Given the description of an element on the screen output the (x, y) to click on. 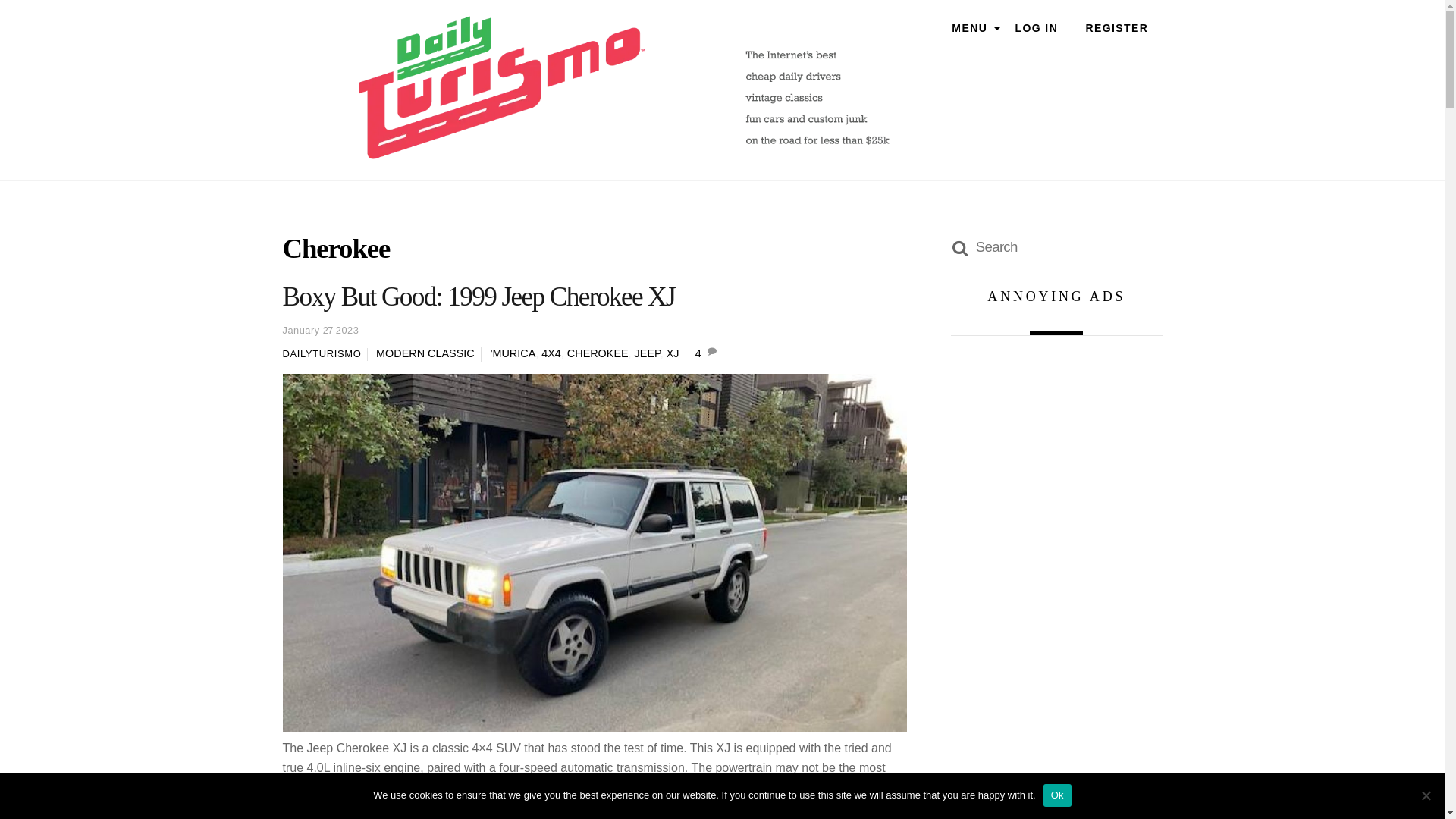
Search (1055, 246)
More (306, 818)
4X4 (550, 353)
MODERN CLASSIC (424, 353)
DailyTurismo (623, 151)
DAILYTURISMO (321, 353)
'MURICA (512, 353)
Boxy But Good: 1999 Jeep Cherokee XJ (478, 296)
JEEP (647, 353)
LOG IN (1036, 28)
MENU (969, 28)
XJ (672, 353)
CHEROKEE (597, 353)
REGISTER (1116, 28)
